Given the description of an element on the screen output the (x, y) to click on. 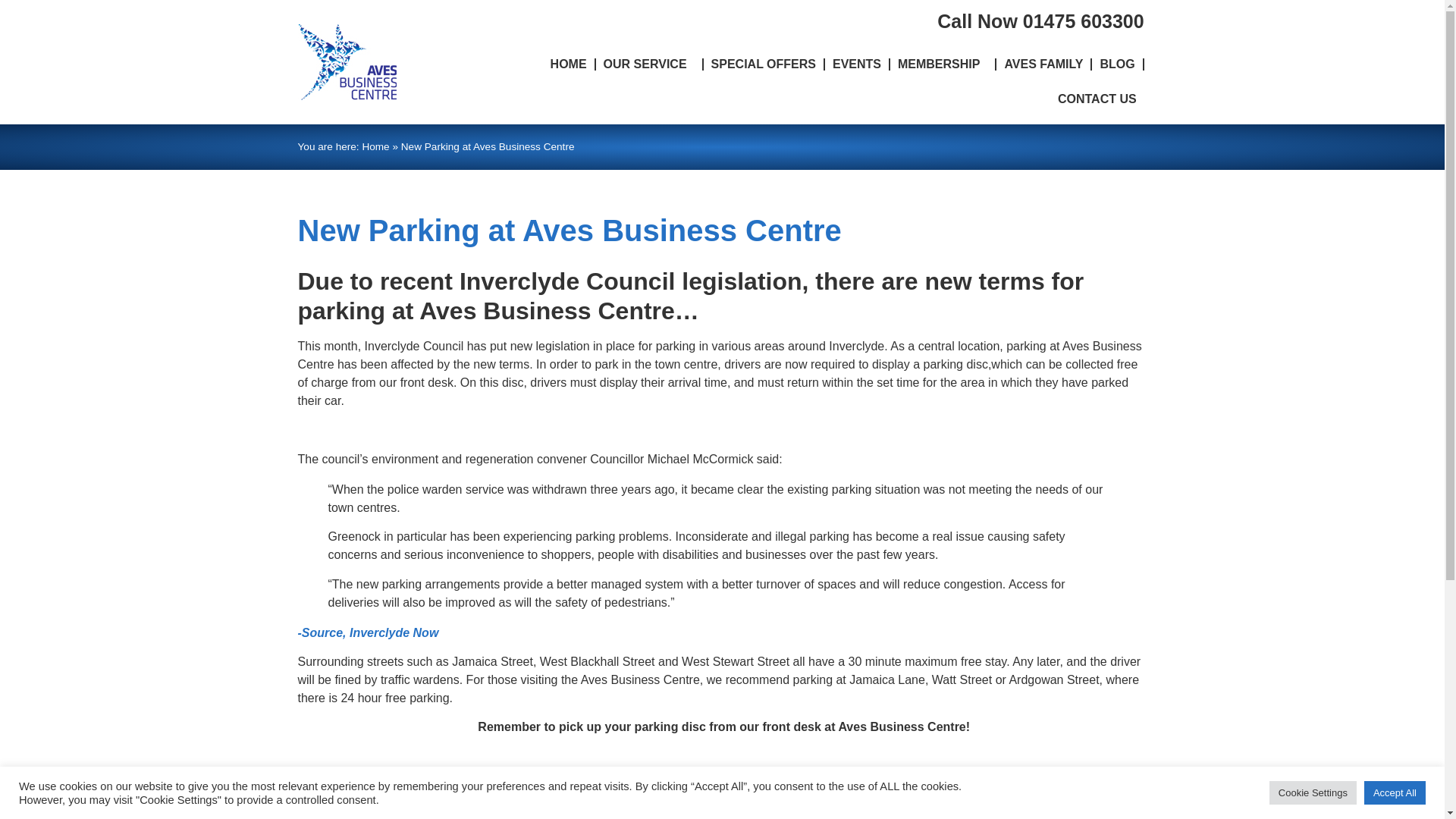
Home (374, 146)
OUR SERVICE (648, 63)
AVES FAMILY (1042, 63)
CONTACT US (1096, 99)
-Source, Inverclyde Now (367, 632)
BLOG (1116, 63)
HOME (568, 63)
MEMBERSHIP (941, 63)
SPECIAL OFFERS (763, 63)
EVENTS (856, 63)
